Given the description of an element on the screen output the (x, y) to click on. 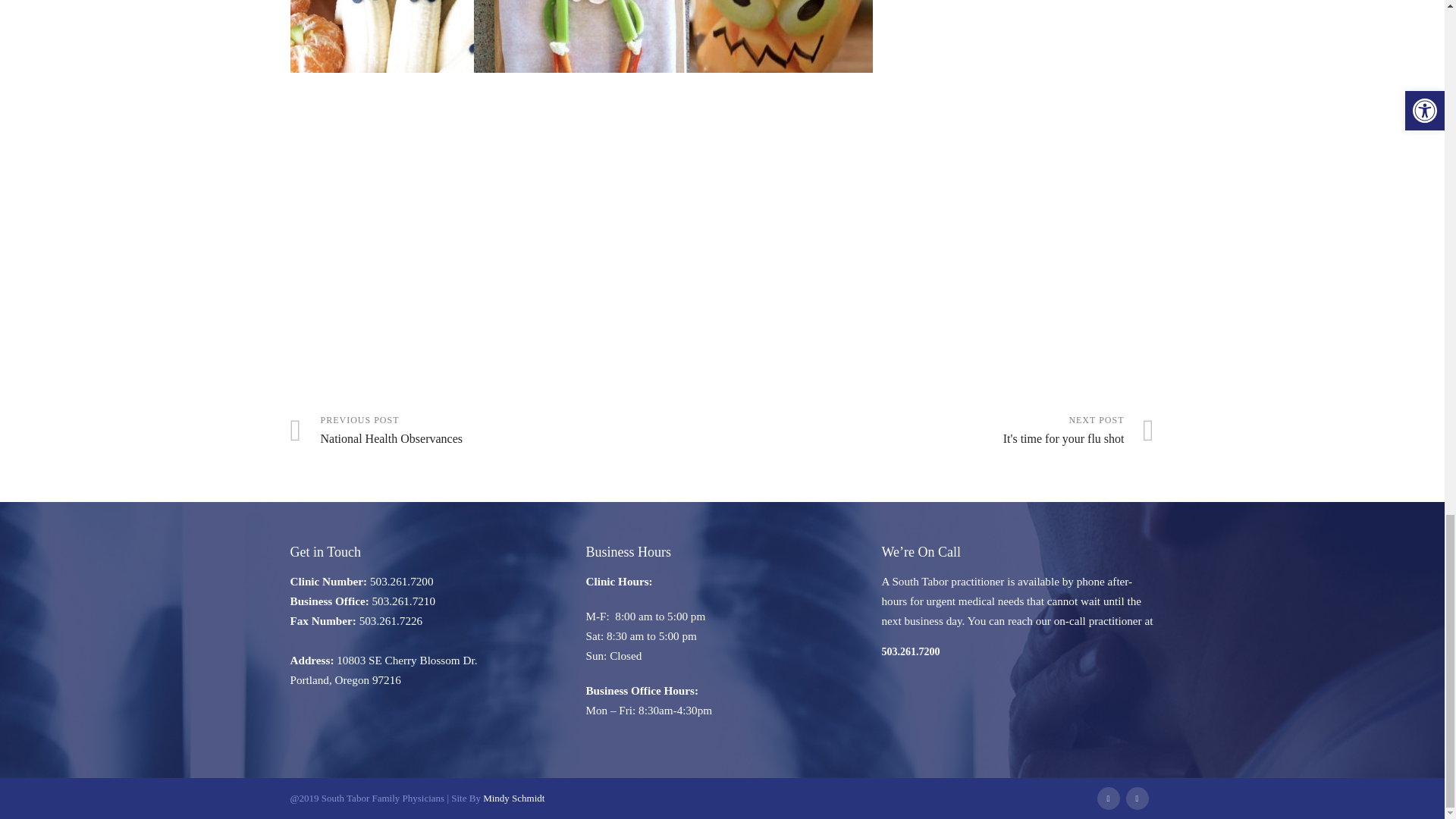
It's time for your flu shot (938, 430)
National Health Observances (505, 430)
YouTube video player (501, 241)
